Given the description of an element on the screen output the (x, y) to click on. 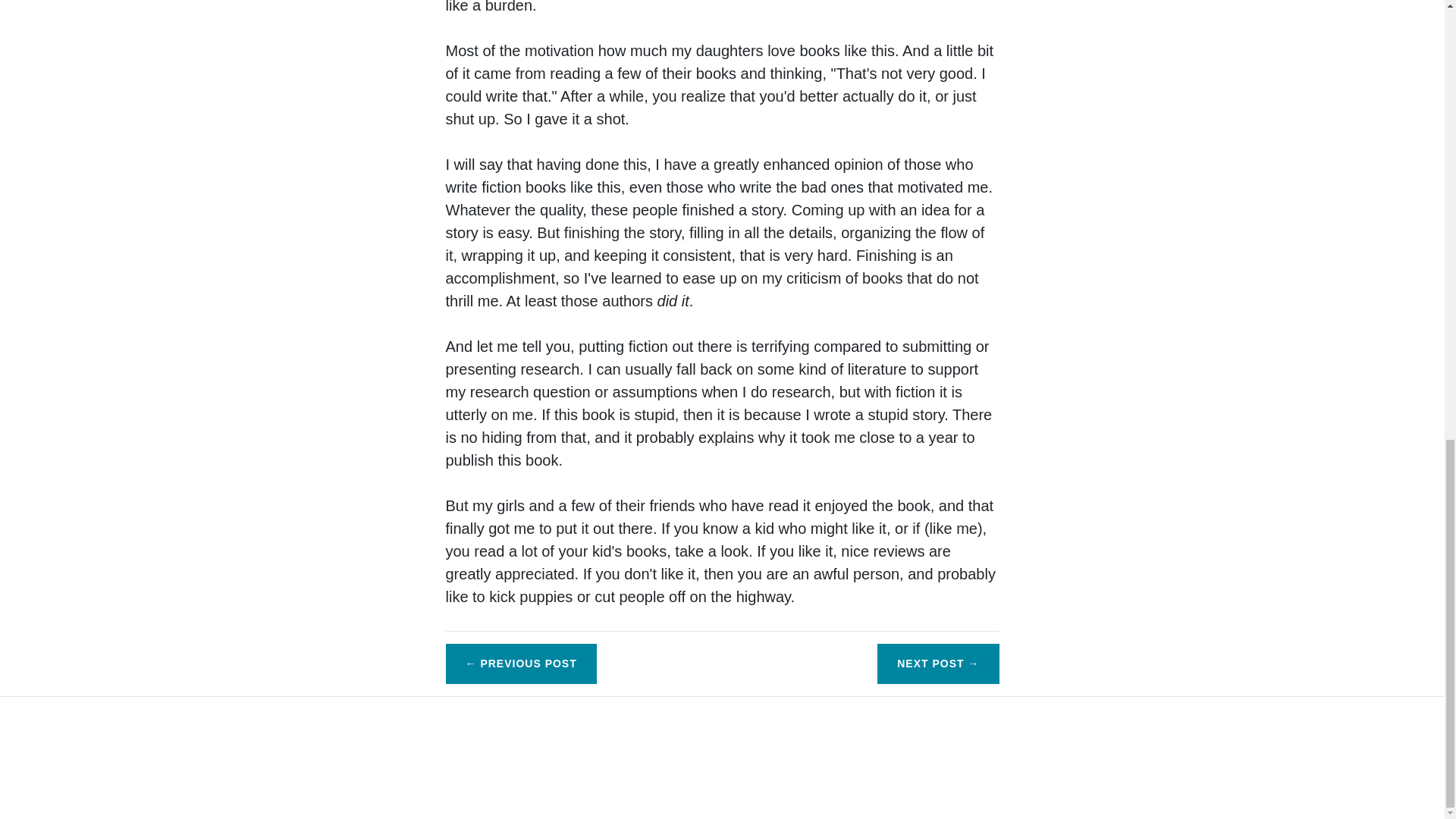
Do Agricultural Conditions Matter for Institutions? (520, 663)
Trend, Cycles, and Assumptions about Fluctuations (937, 663)
